Given the description of an element on the screen output the (x, y) to click on. 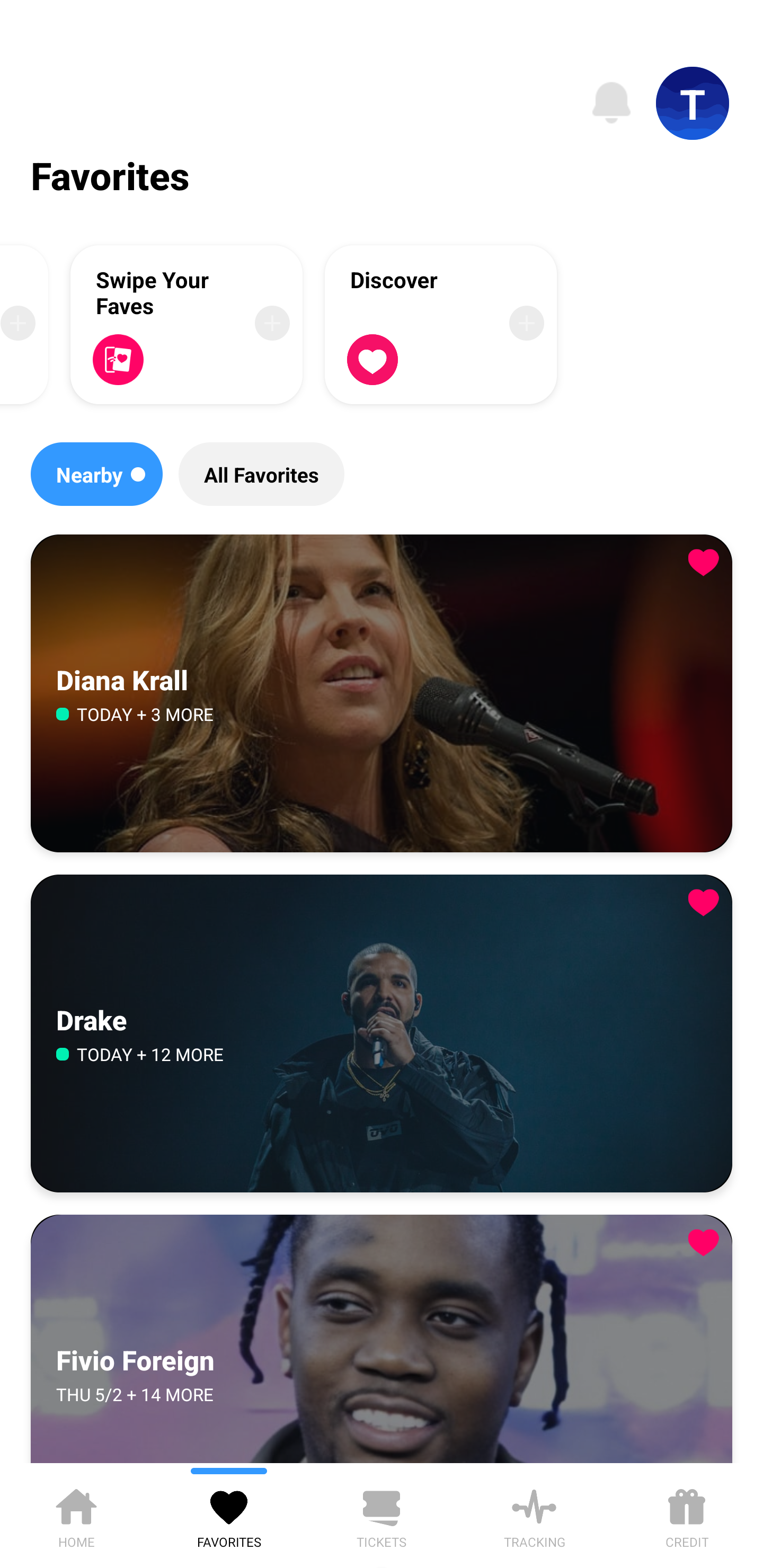
T (692, 103)
Swipe Your  Faves (186, 324)
Discover (440, 324)
Nearby (96, 474)
All Favorites (261, 474)
Drake, TODAY + 12 MORE  Drake TODAY + 12 MORE  (381, 1032)
HOME (76, 1515)
FAVORITES (228, 1515)
TICKETS (381, 1515)
TRACKING (533, 1515)
CREDIT (686, 1515)
